Given the description of an element on the screen output the (x, y) to click on. 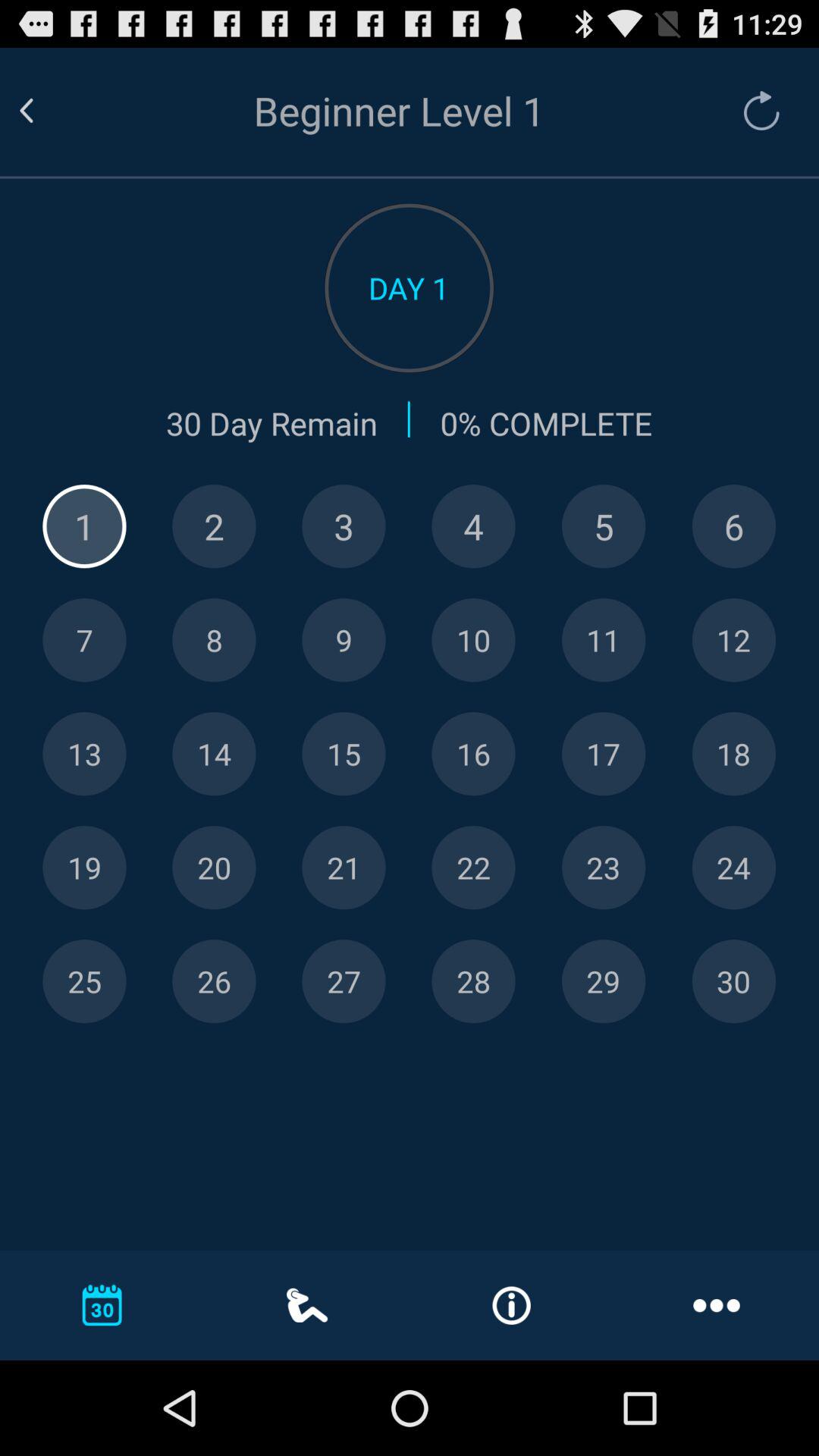
level selection (343, 981)
